Given the description of an element on the screen output the (x, y) to click on. 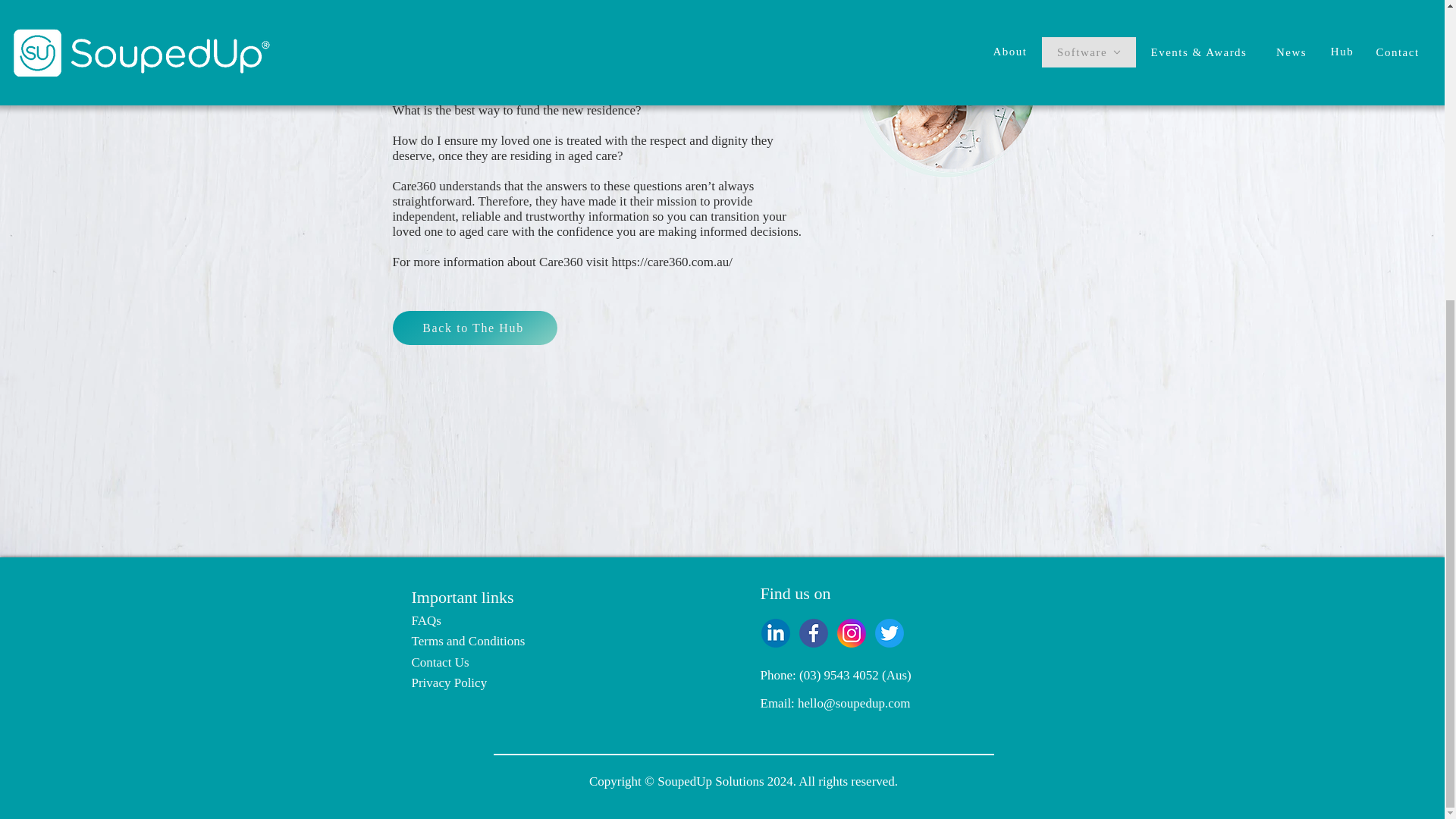
Privacy Policy (448, 682)
Terms and Conditions (467, 640)
Back to The Hub (475, 327)
FAQs (425, 620)
Contact Us (439, 662)
